Given the description of an element on the screen output the (x, y) to click on. 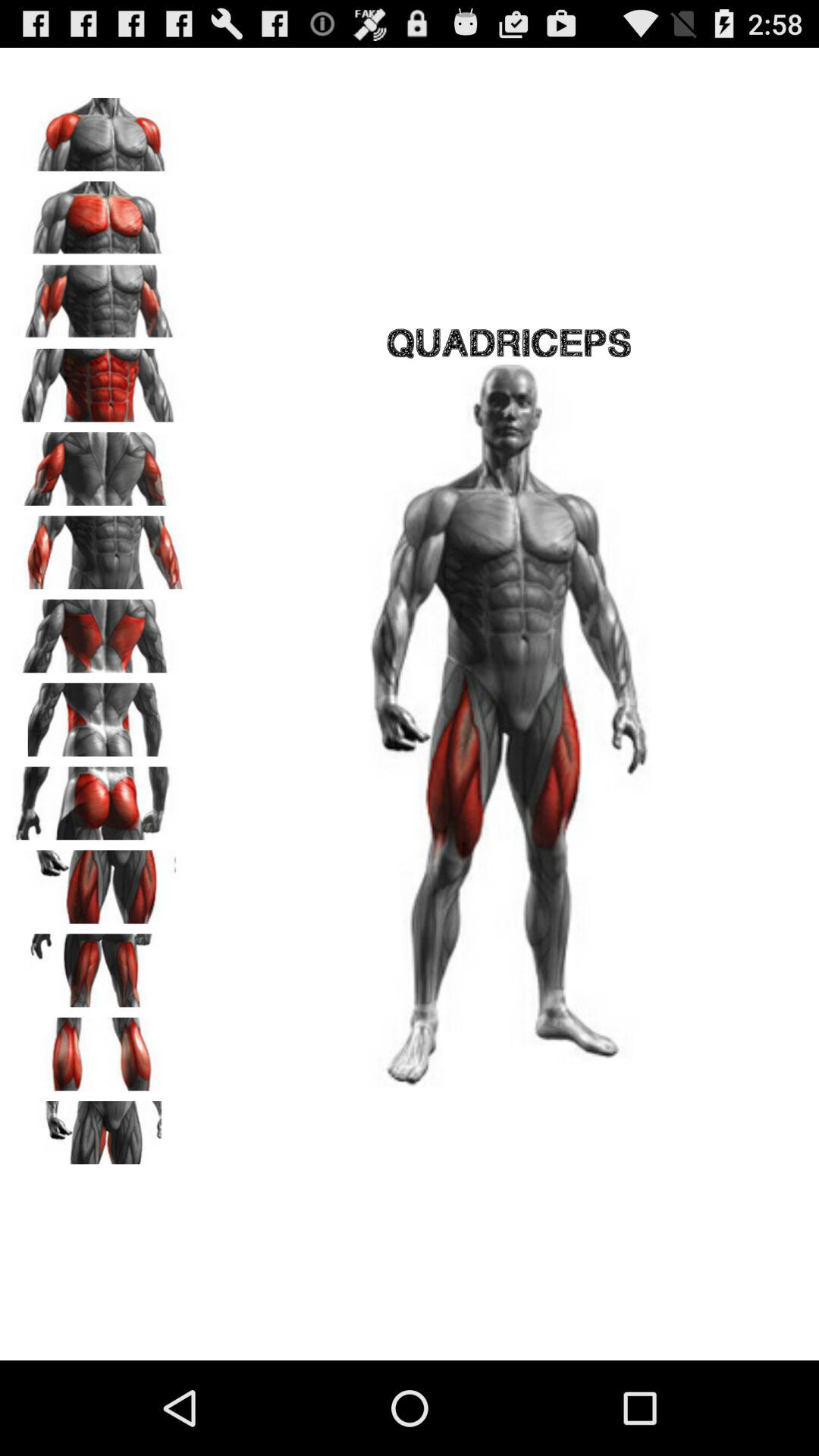
click front of the human body (99, 212)
